Given the description of an element on the screen output the (x, y) to click on. 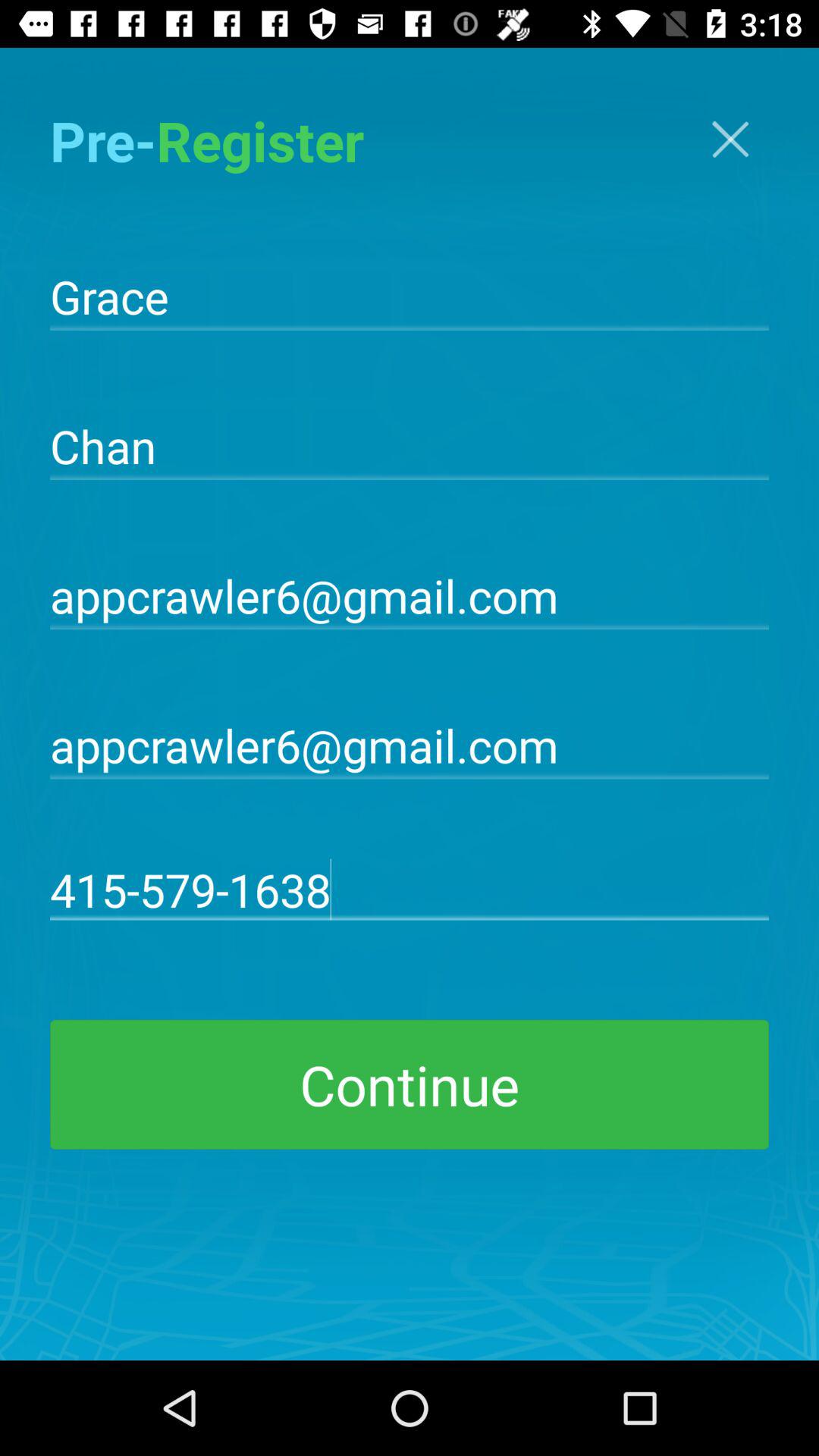
press the icon at the top right corner (730, 139)
